Given the description of an element on the screen output the (x, y) to click on. 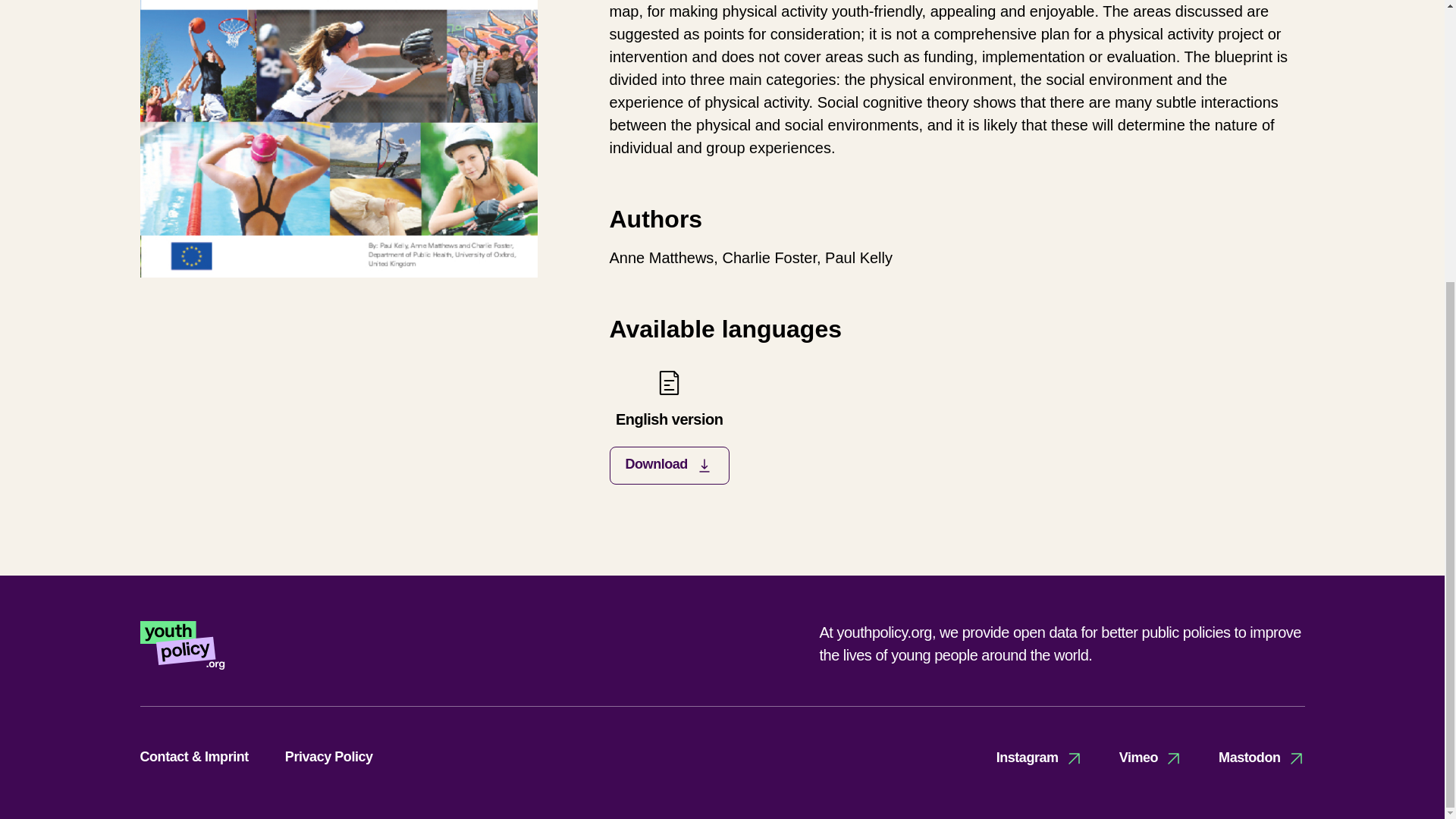
Privacy Policy (328, 757)
Mastodon (1261, 757)
Instagram (669, 425)
Vimeo (1039, 757)
